Given the description of an element on the screen output the (x, y) to click on. 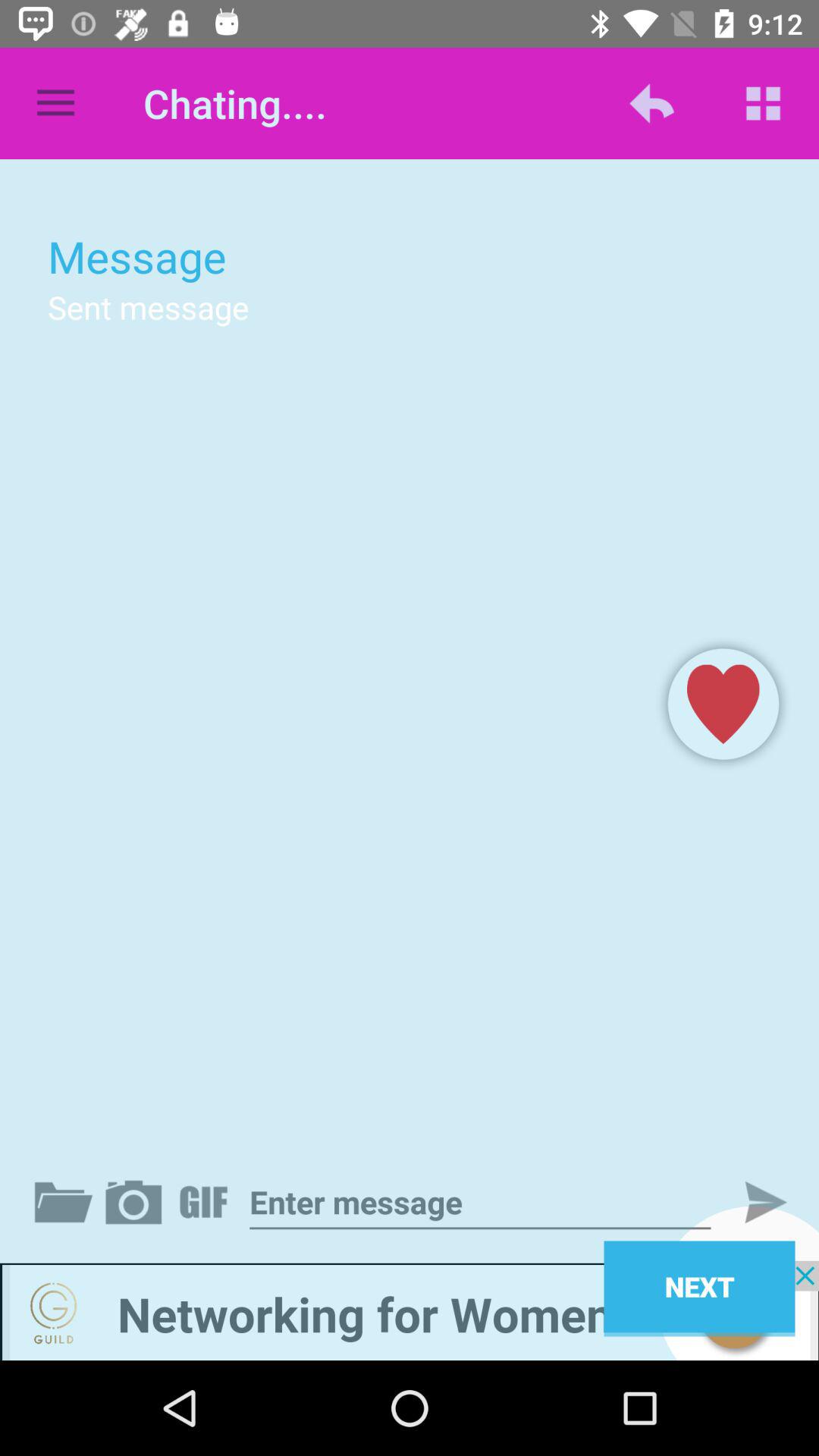
type in a message (479, 1202)
